Given the description of an element on the screen output the (x, y) to click on. 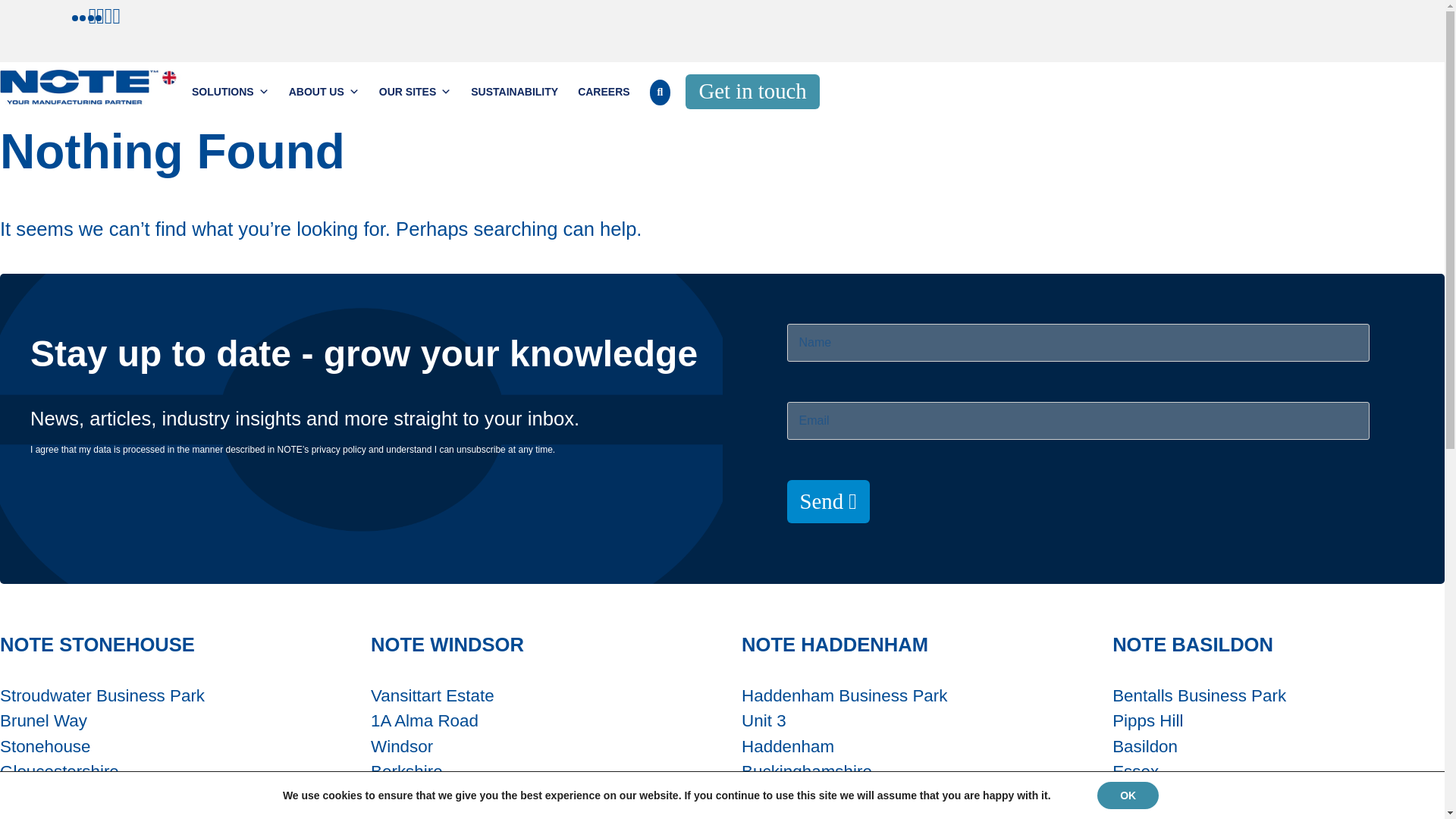
ABOUT US (324, 91)
SOLUTIONS (231, 91)
